Given the description of an element on the screen output the (x, y) to click on. 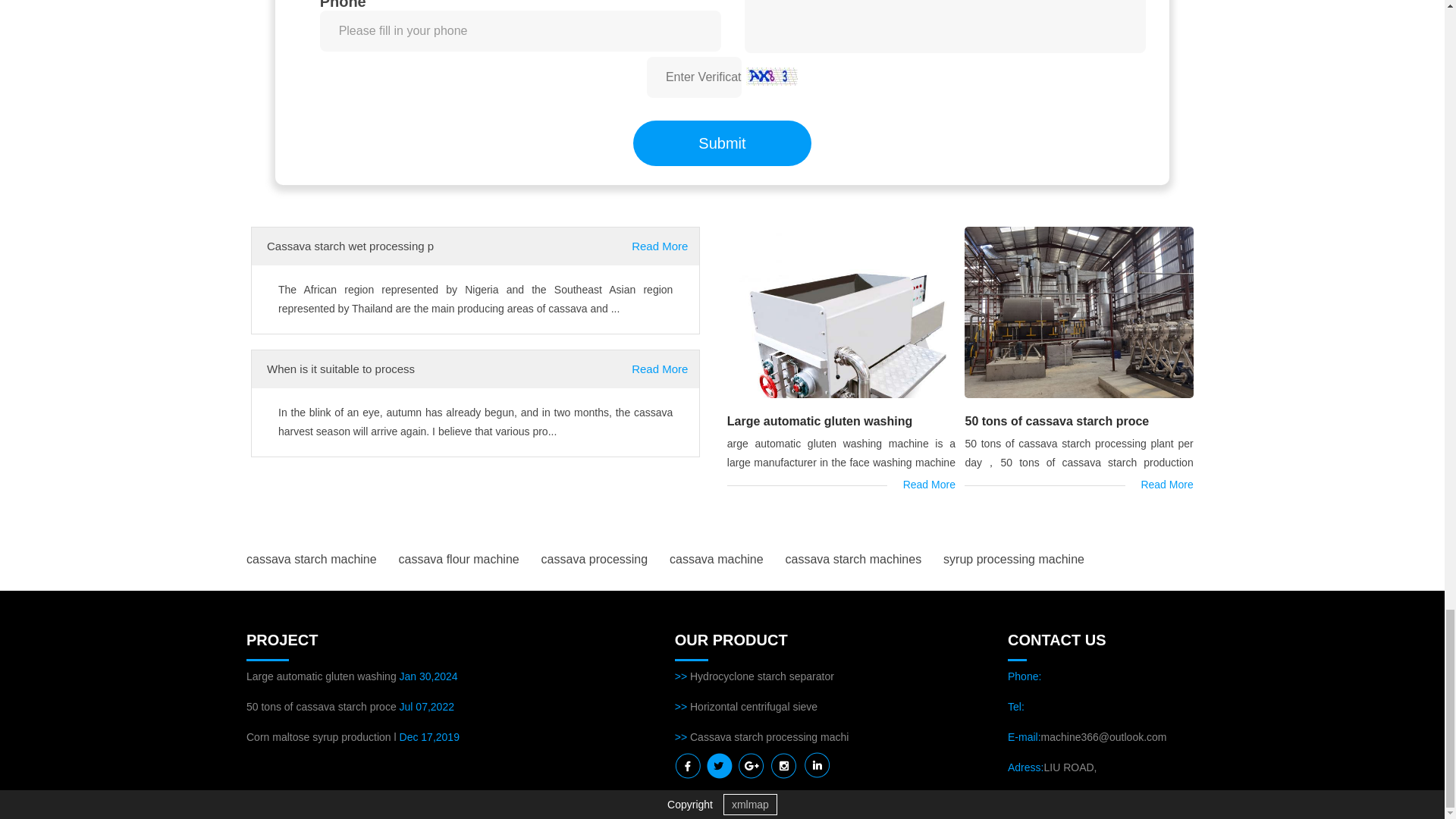
Submit (722, 143)
When is it suitable to process (340, 368)
Horizontal centrifugal sieve (753, 706)
50 tons of cassava starch proce (321, 706)
Read More (659, 246)
Corn maltose syrup production l (321, 736)
cassava flour machine (458, 558)
Large automatic gluten washing (819, 420)
Cassava starch wet processing p (349, 245)
Cassava starch processing machi (769, 736)
Hydrocyclone starch separator (762, 676)
cassava machine (715, 558)
cassava processing (594, 558)
Large automatic gluten washing (322, 676)
cassava starch machine (311, 558)
